Given the description of an element on the screen output the (x, y) to click on. 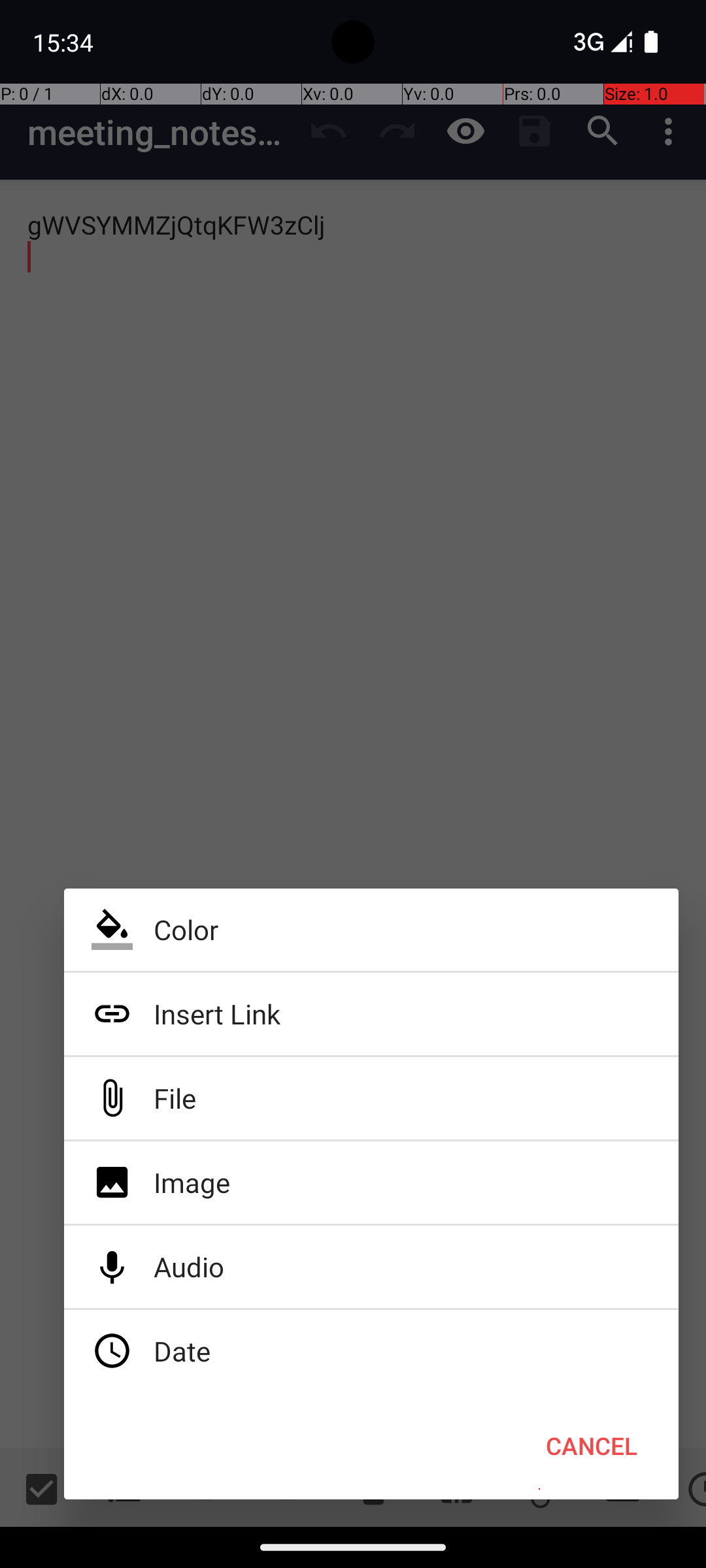
Color Element type: android.widget.TextView (371, 929)
Insert Link Element type: android.widget.TextView (371, 1013)
File Element type: android.widget.TextView (371, 1098)
Image Element type: android.widget.TextView (371, 1182)
